Given the description of an element on the screen output the (x, y) to click on. 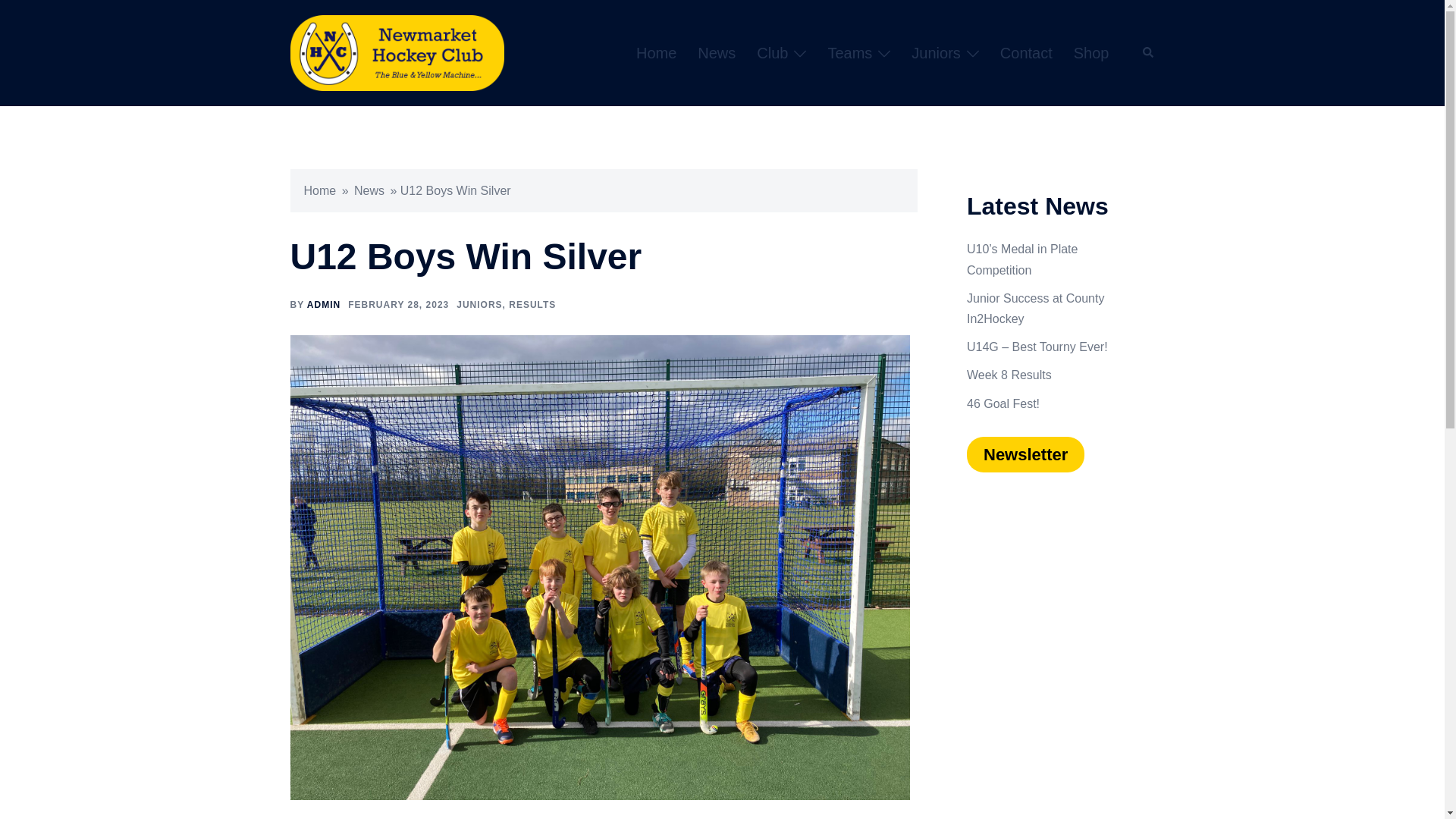
Teams (849, 53)
Juniors (935, 53)
Contact (1026, 53)
Home (656, 53)
Shop (1091, 53)
Newmarket Hockey Club (396, 51)
News (716, 53)
Club (772, 53)
Search (1147, 52)
